Given the description of an element on the screen output the (x, y) to click on. 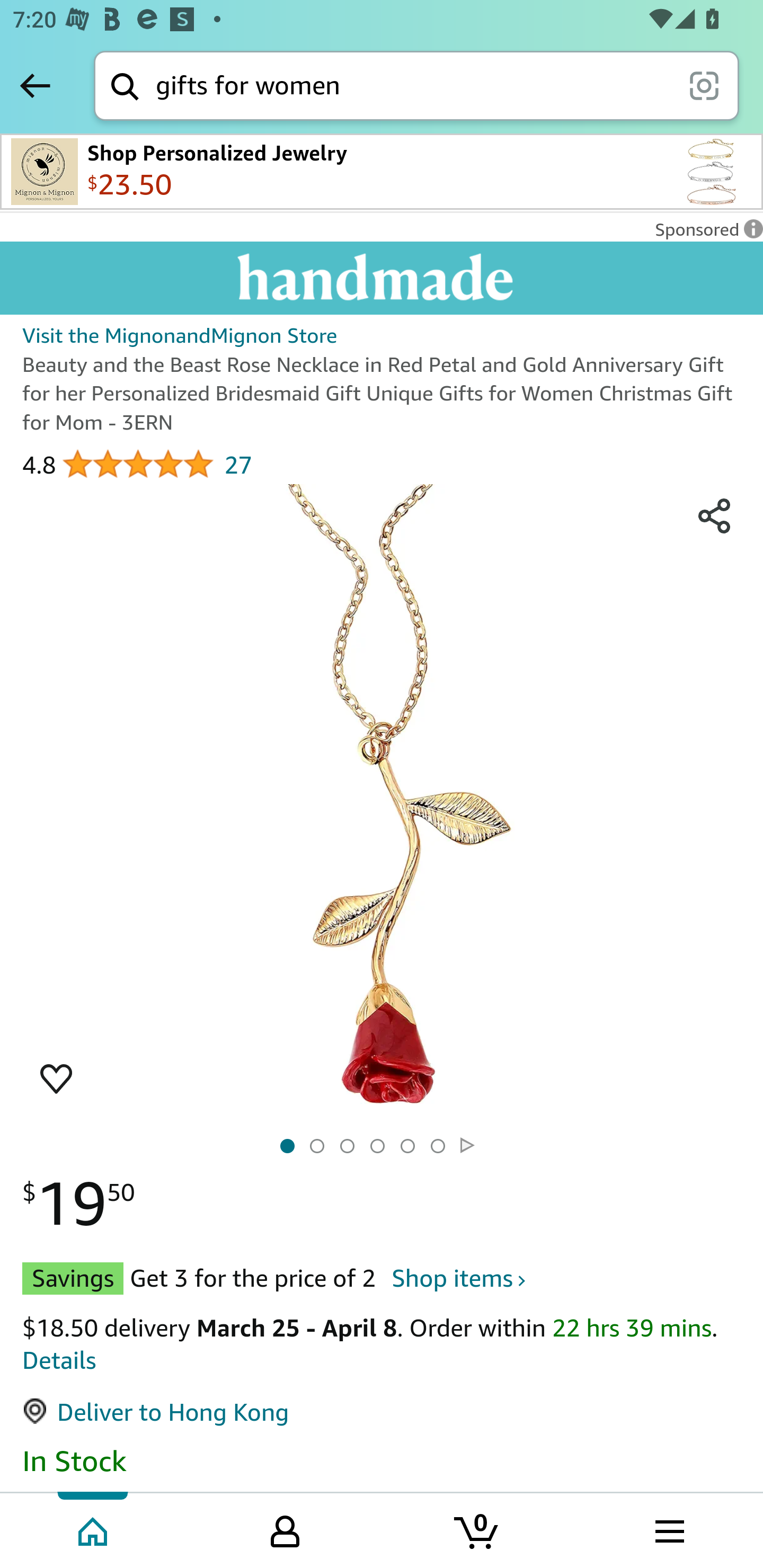
Back (35, 85)
Search Search gifts for women scan it (416, 85)
scan it (704, 85)
Leave feedback on Sponsored ad Sponsored  (703, 234)
Click to see handmade products (381, 282)
Visit the MignonandMignon Store (180, 335)
Heart to save an item to your default list (56, 1076)
Shop items (456, 1278)
Details (59, 1359)
Deliver to Hong Kong (155, 1412)
Home Tab 1 of 4 (94, 1529)
Your Amazon.com Tab 2 of 4 (285, 1529)
Cart 0 item Tab 3 of 4 0 (477, 1529)
Browse menu Tab 4 of 4 (668, 1529)
